Given the description of an element on the screen output the (x, y) to click on. 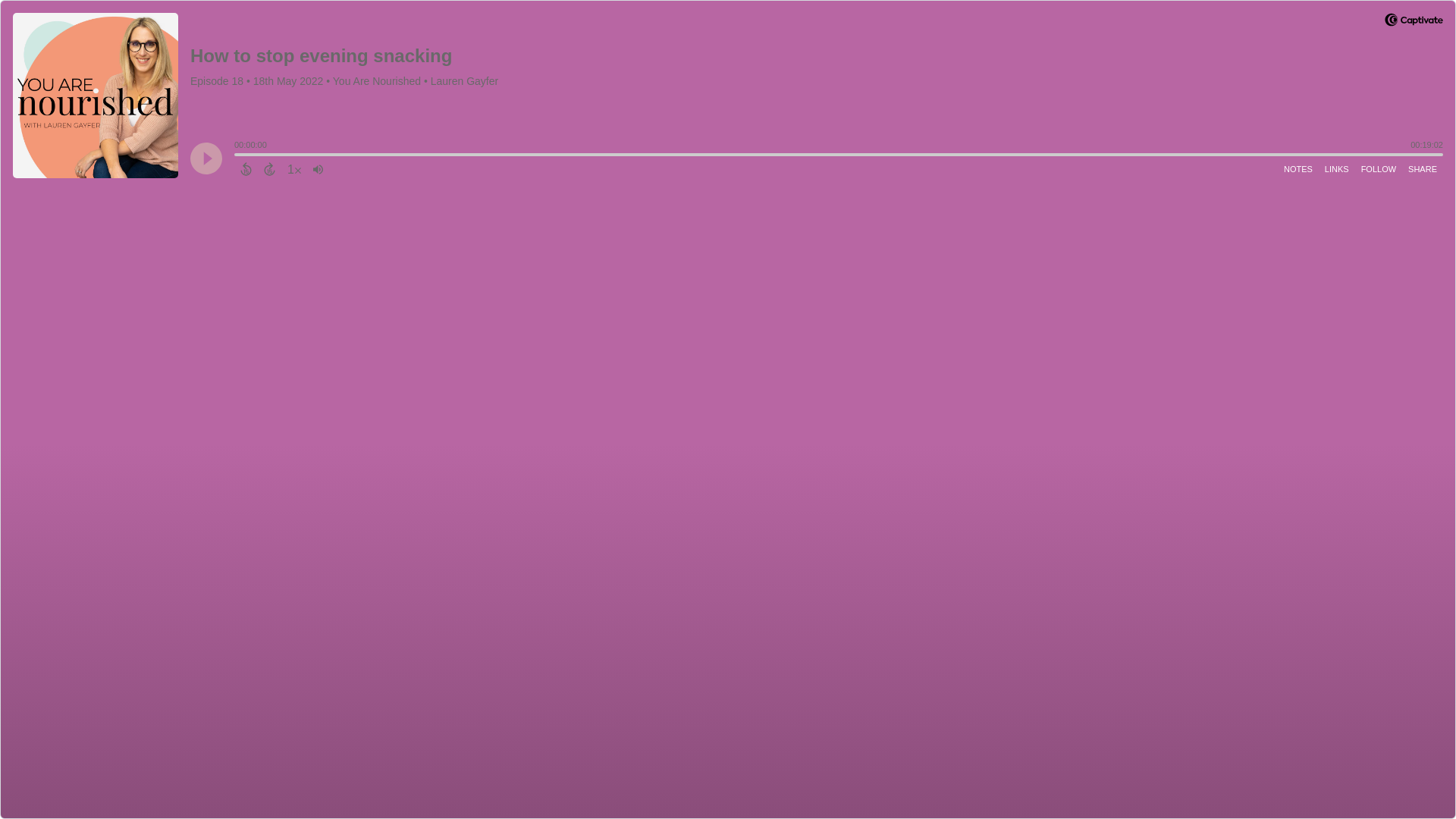
SHARE (1422, 168)
LINKS (1337, 168)
1 (294, 168)
FOLLOW (1378, 168)
NOTES (1298, 168)
